Given the description of an element on the screen output the (x, y) to click on. 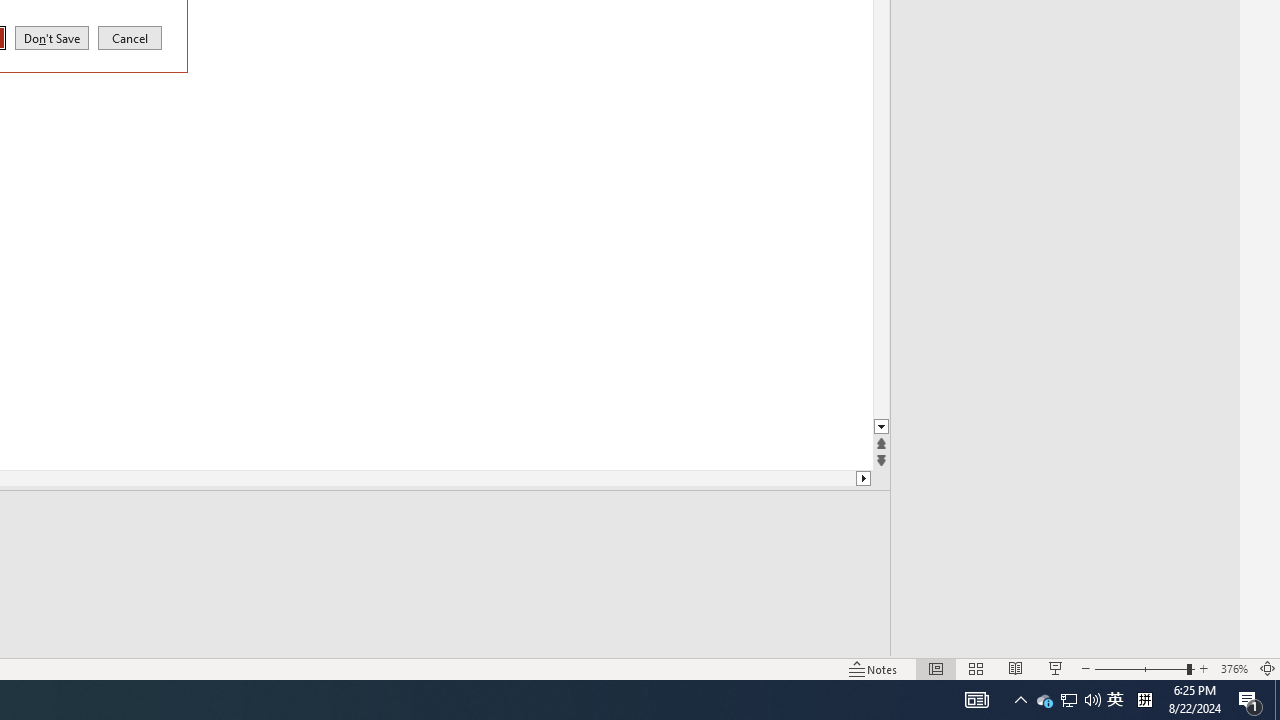
Zoom 376% (1234, 668)
Don't Save (1044, 699)
